Given the description of an element on the screen output the (x, y) to click on. 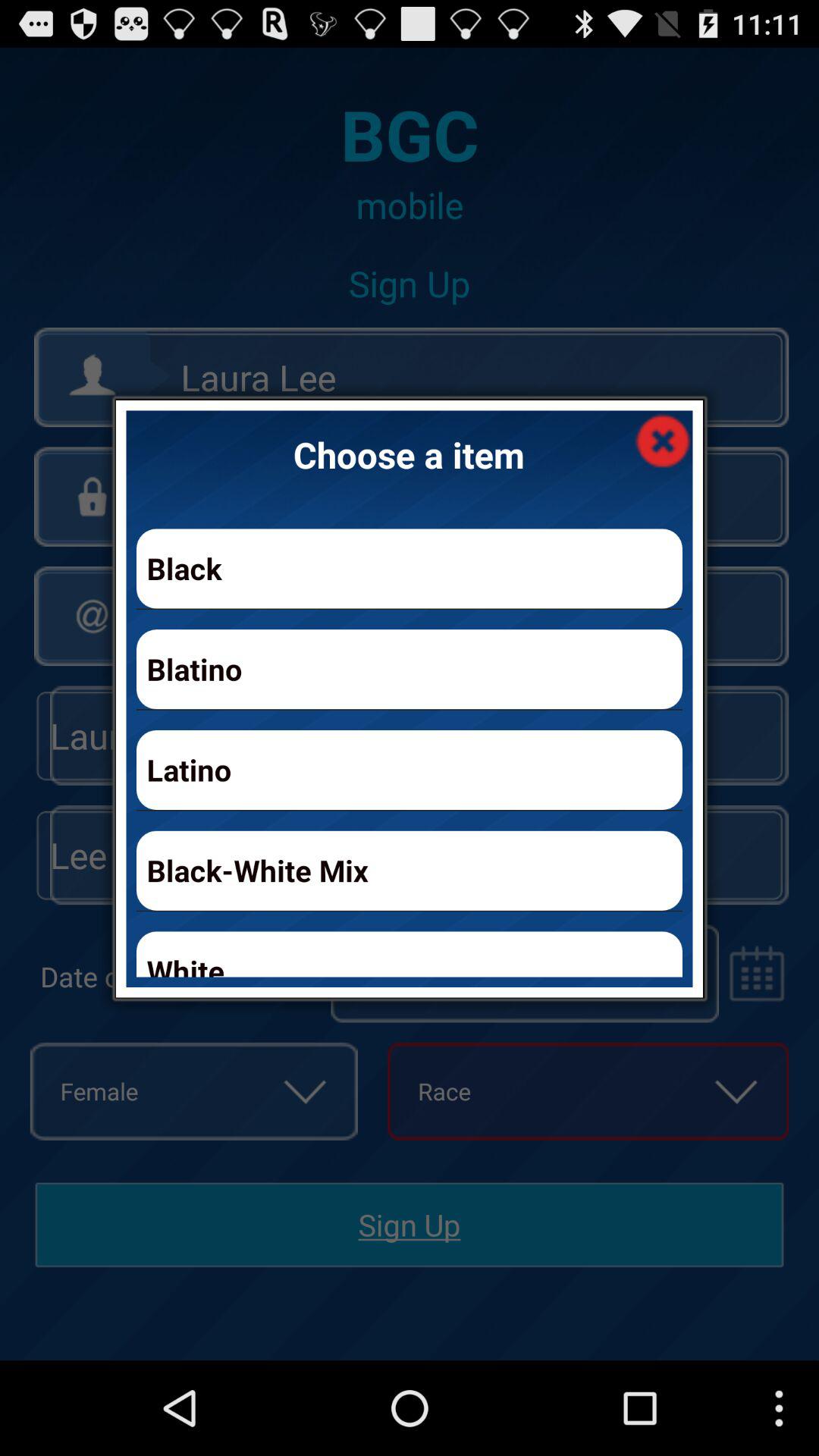
turn on black-white mix item (409, 870)
